Given the description of an element on the screen output the (x, y) to click on. 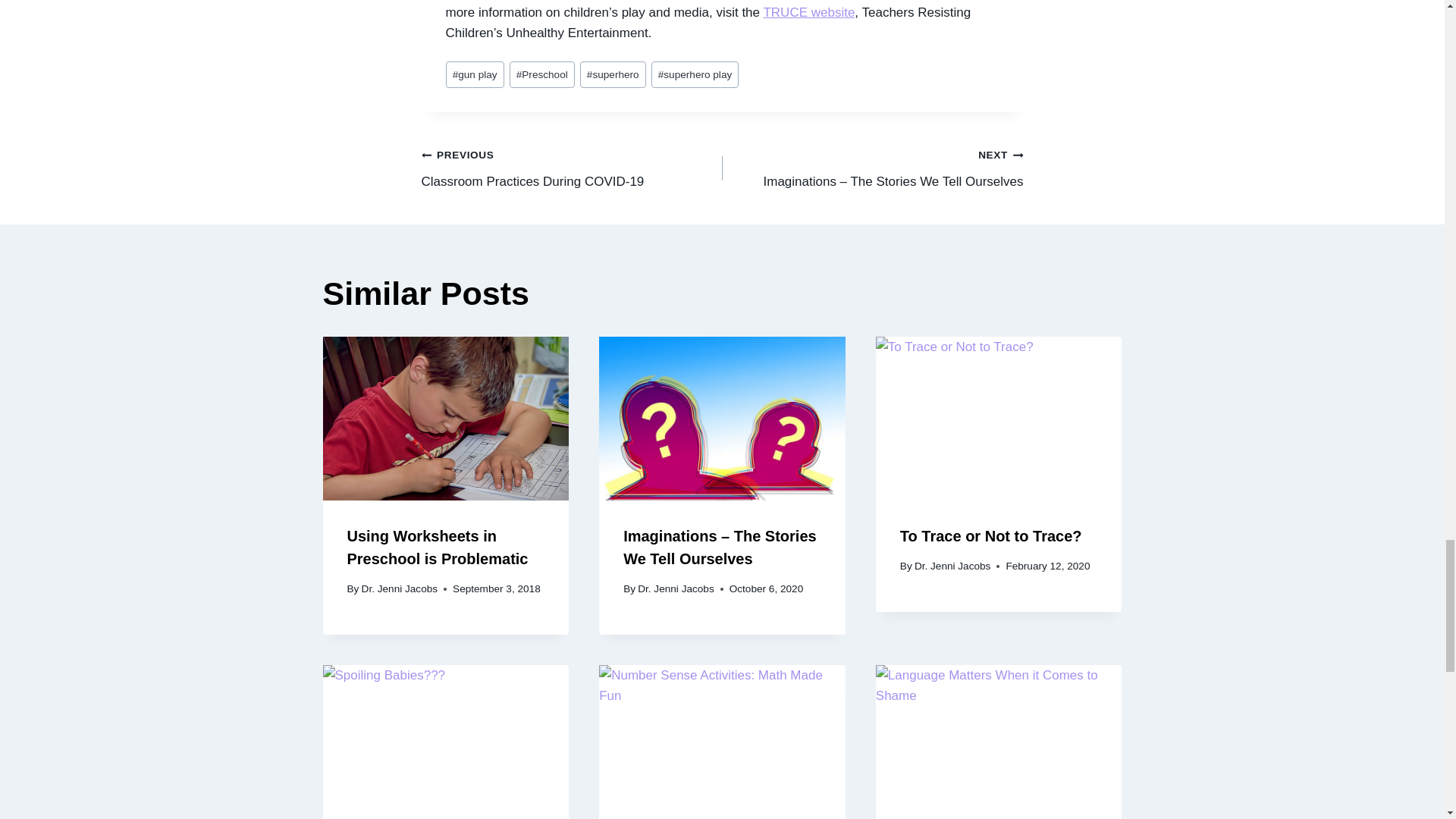
Preschool (542, 74)
gun play (474, 74)
TRUCE website (808, 11)
superhero (612, 74)
superhero play (694, 74)
